Given the description of an element on the screen output the (x, y) to click on. 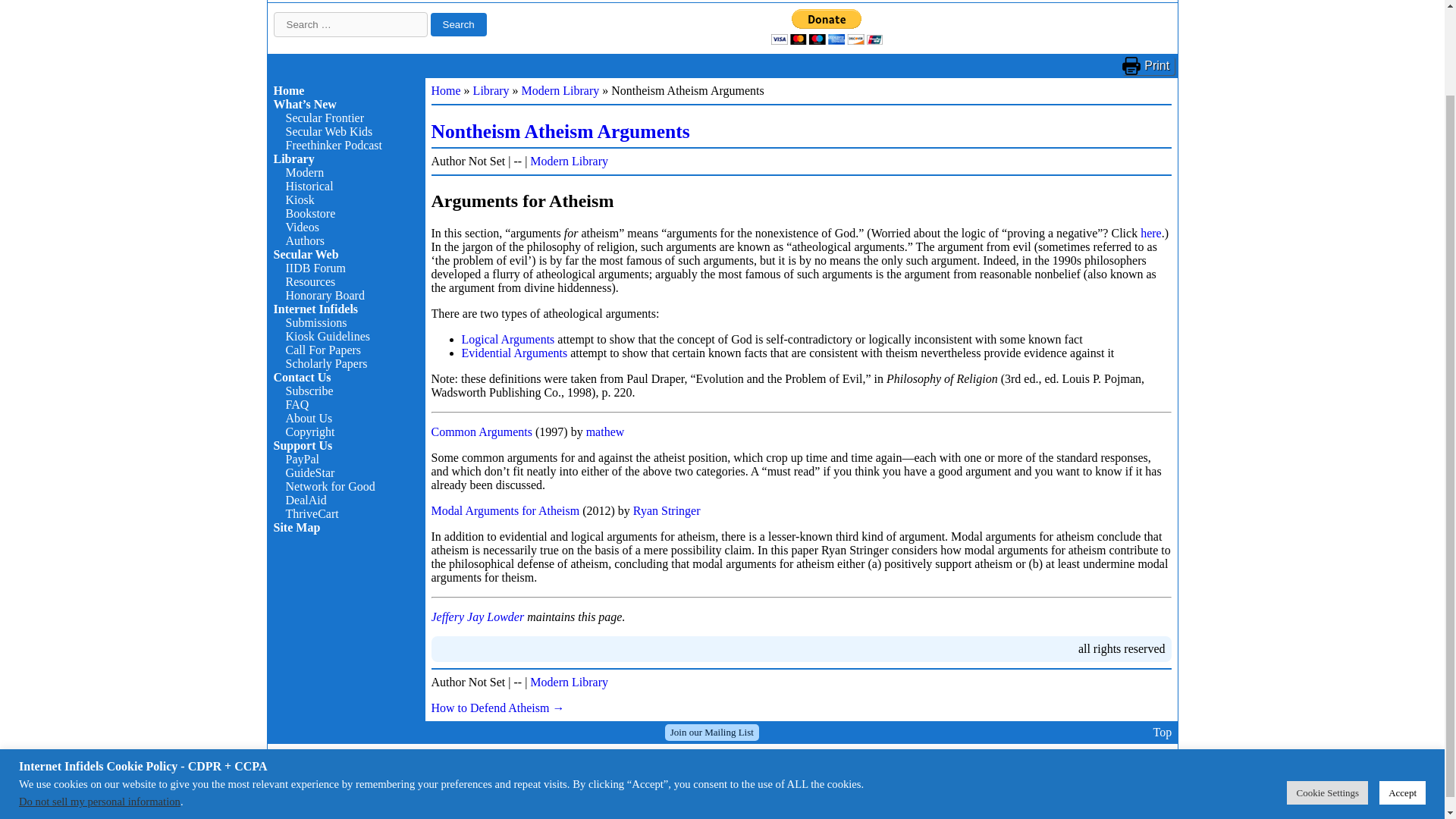
Internet Infidels (315, 308)
About Us (308, 418)
Search (458, 24)
Nontheism Atheism Arguments (559, 131)
Subscribe (309, 390)
Modern (304, 172)
Authors (304, 240)
Kiosk (299, 199)
IIDB Forum (315, 267)
Historical (309, 185)
Home (288, 90)
Search (458, 24)
Secular Frontier (324, 117)
Freethinker Podcast (333, 144)
DealAid (305, 499)
